Given the description of an element on the screen output the (x, y) to click on. 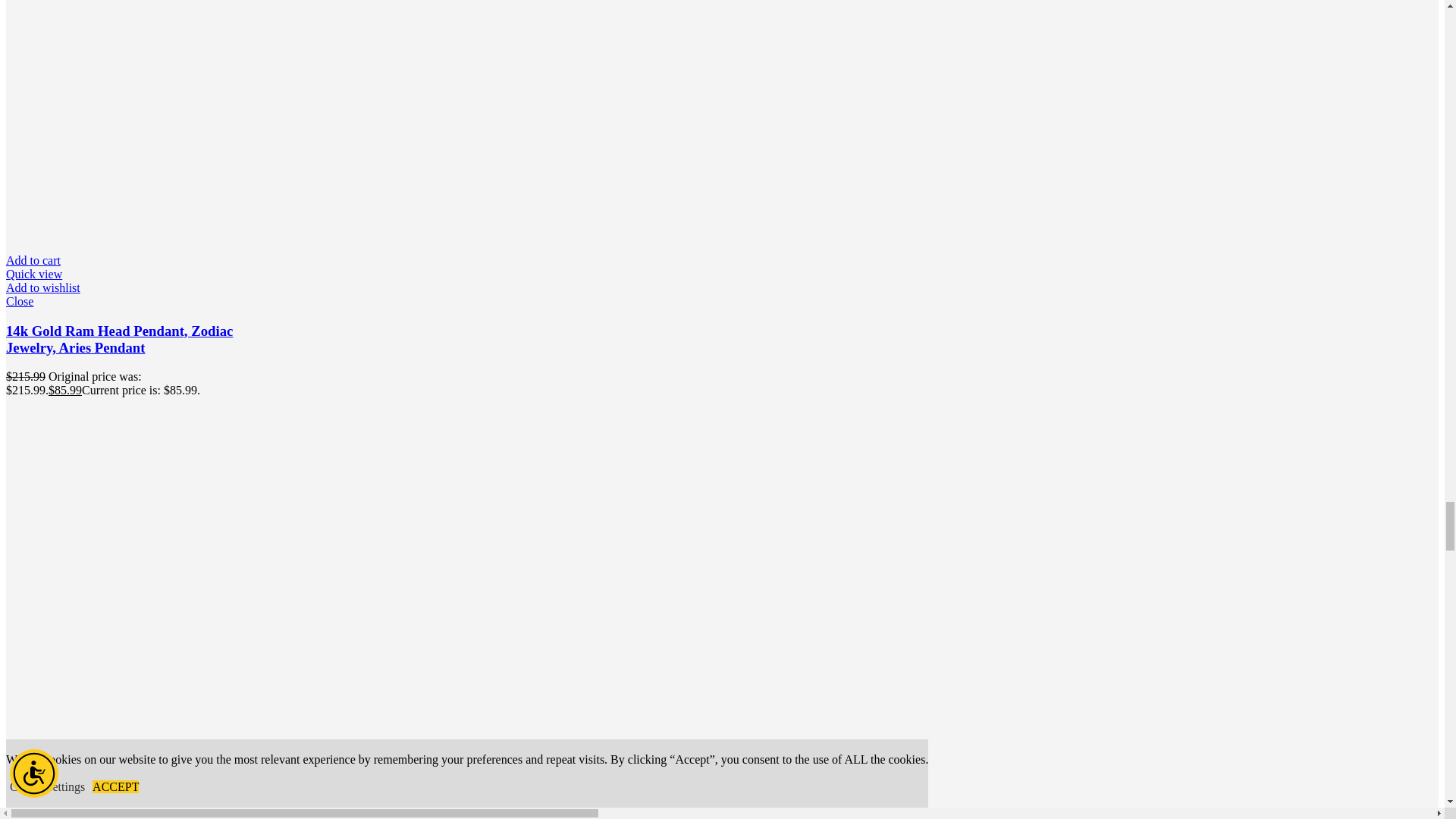
Close (121, 301)
